Given the description of an element on the screen output the (x, y) to click on. 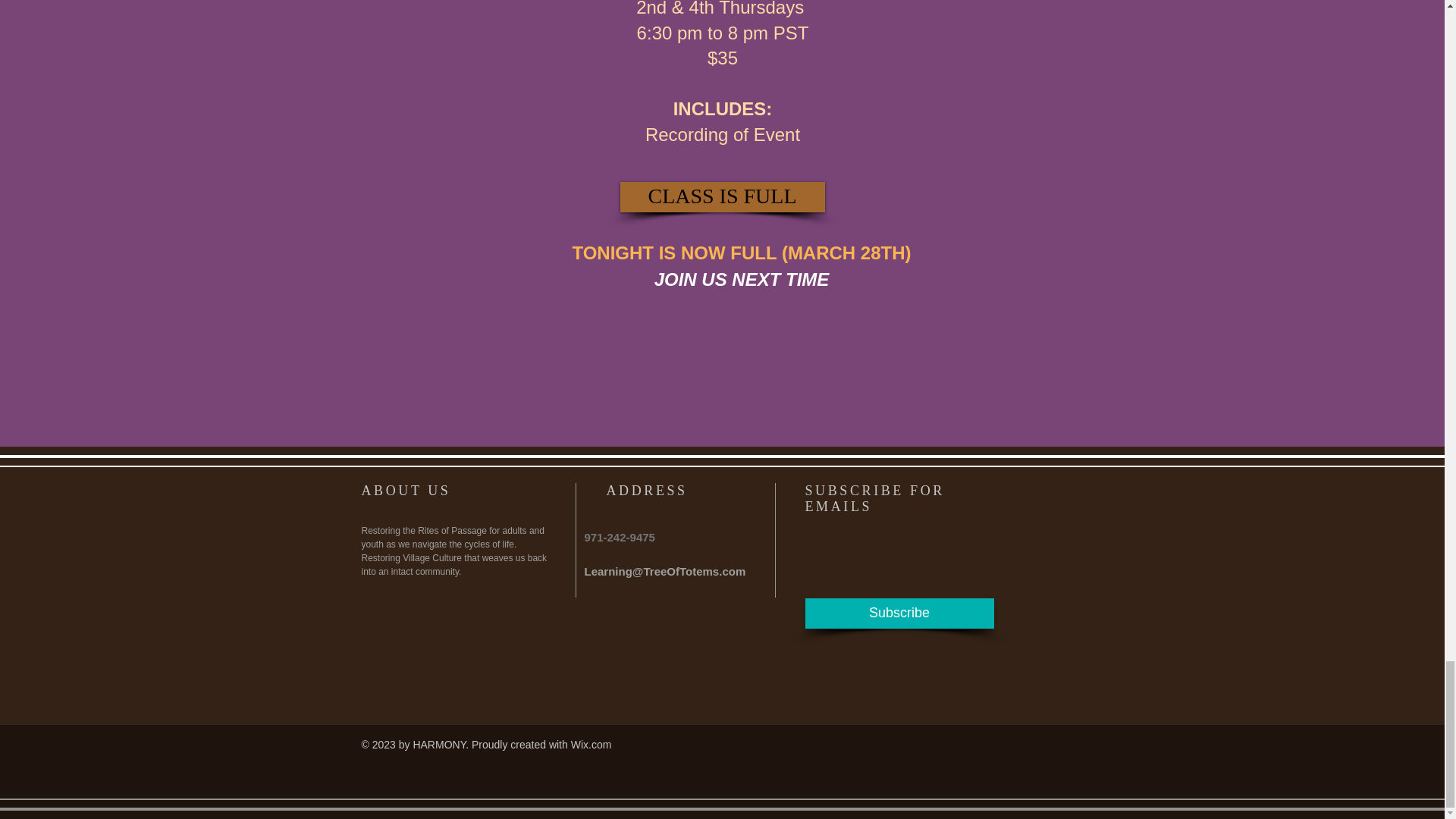
CLASS IS FULL (722, 196)
Subscribe (899, 613)
Wix.com (590, 744)
